Given the description of an element on the screen output the (x, y) to click on. 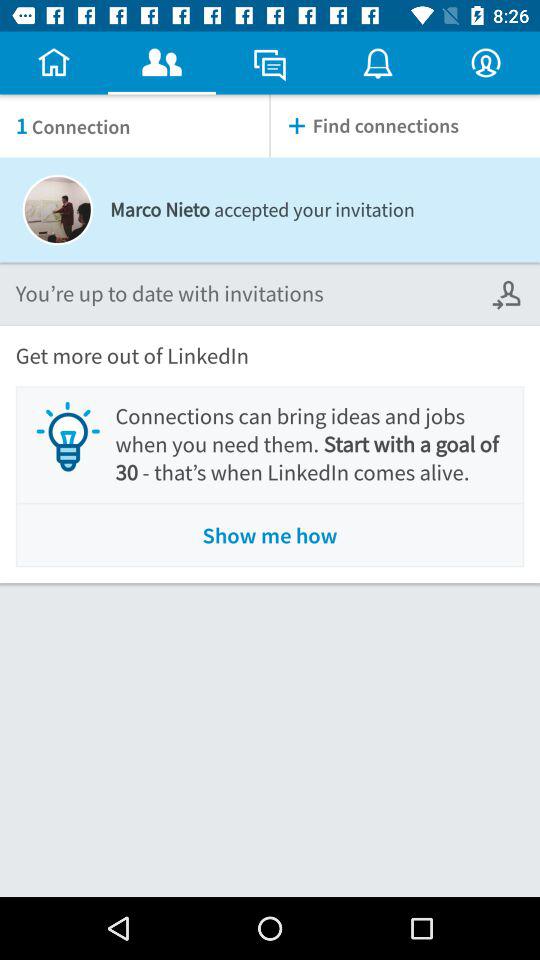
select the item to the left of find connections item (134, 125)
